Given the description of an element on the screen output the (x, y) to click on. 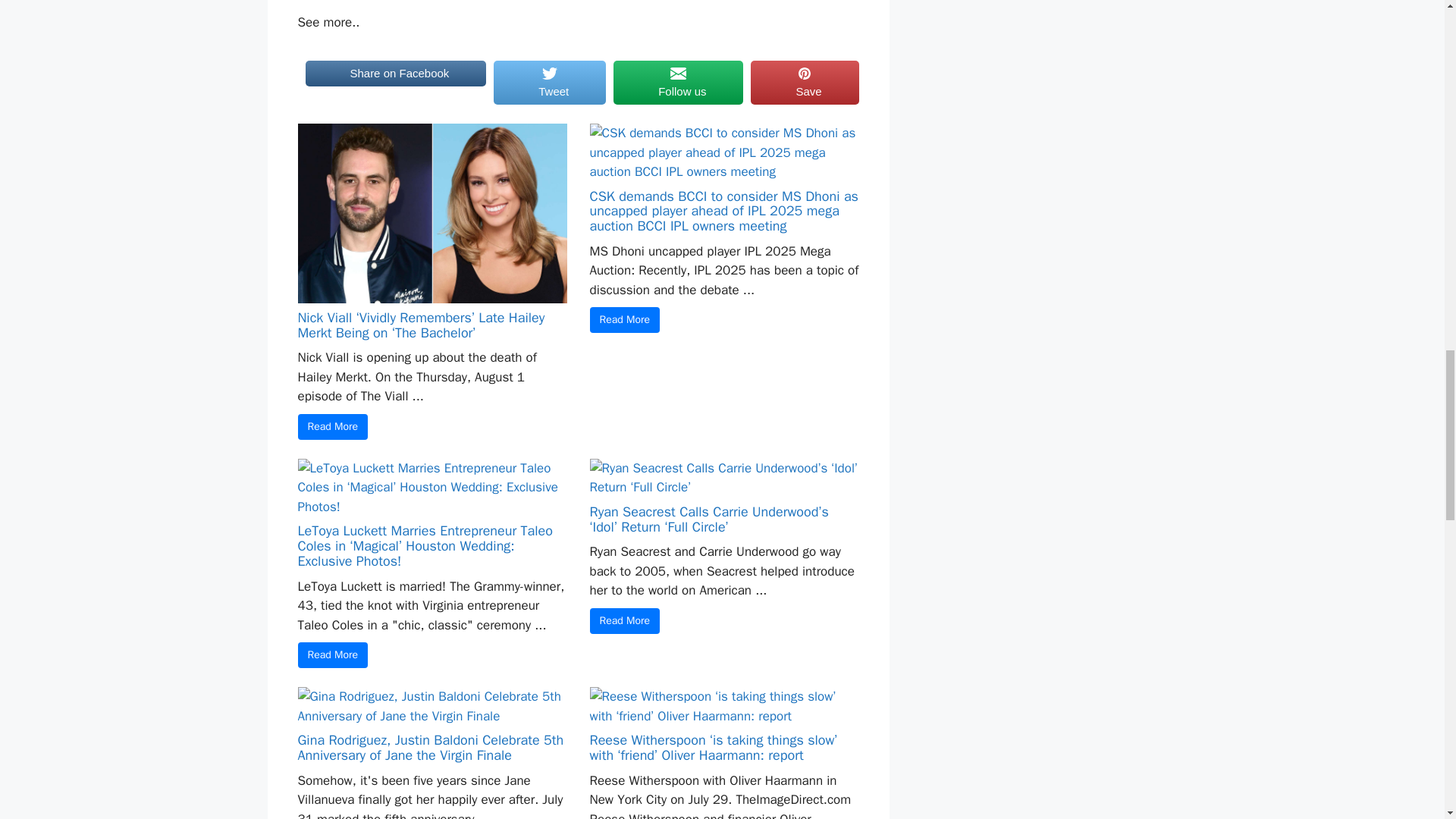
Read More (625, 620)
Read More (332, 426)
Follow us (677, 82)
Tweet (549, 82)
Share on Facebook (395, 82)
Save (805, 82)
Read More (332, 655)
Read More (625, 319)
